Given the description of an element on the screen output the (x, y) to click on. 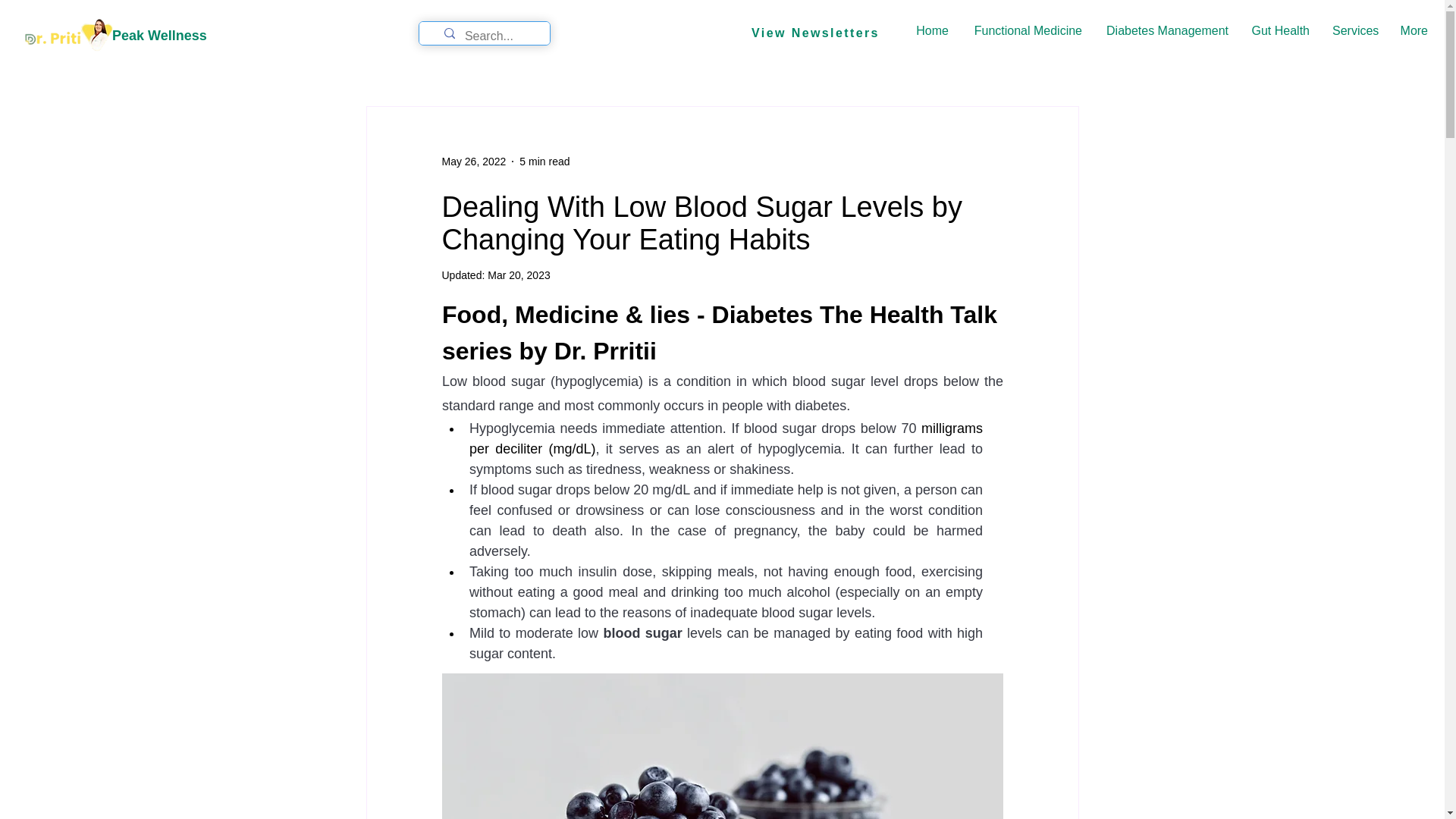
May 26, 2022 (473, 160)
Mar 20, 2023 (518, 275)
Functional Medicine (1026, 30)
Peak Wellness (159, 35)
Gut Health (1280, 30)
Services (1353, 30)
View Newsletters (815, 33)
Diabetes Management (1166, 30)
5 min read (544, 160)
Home (930, 30)
